Given the description of an element on the screen output the (x, y) to click on. 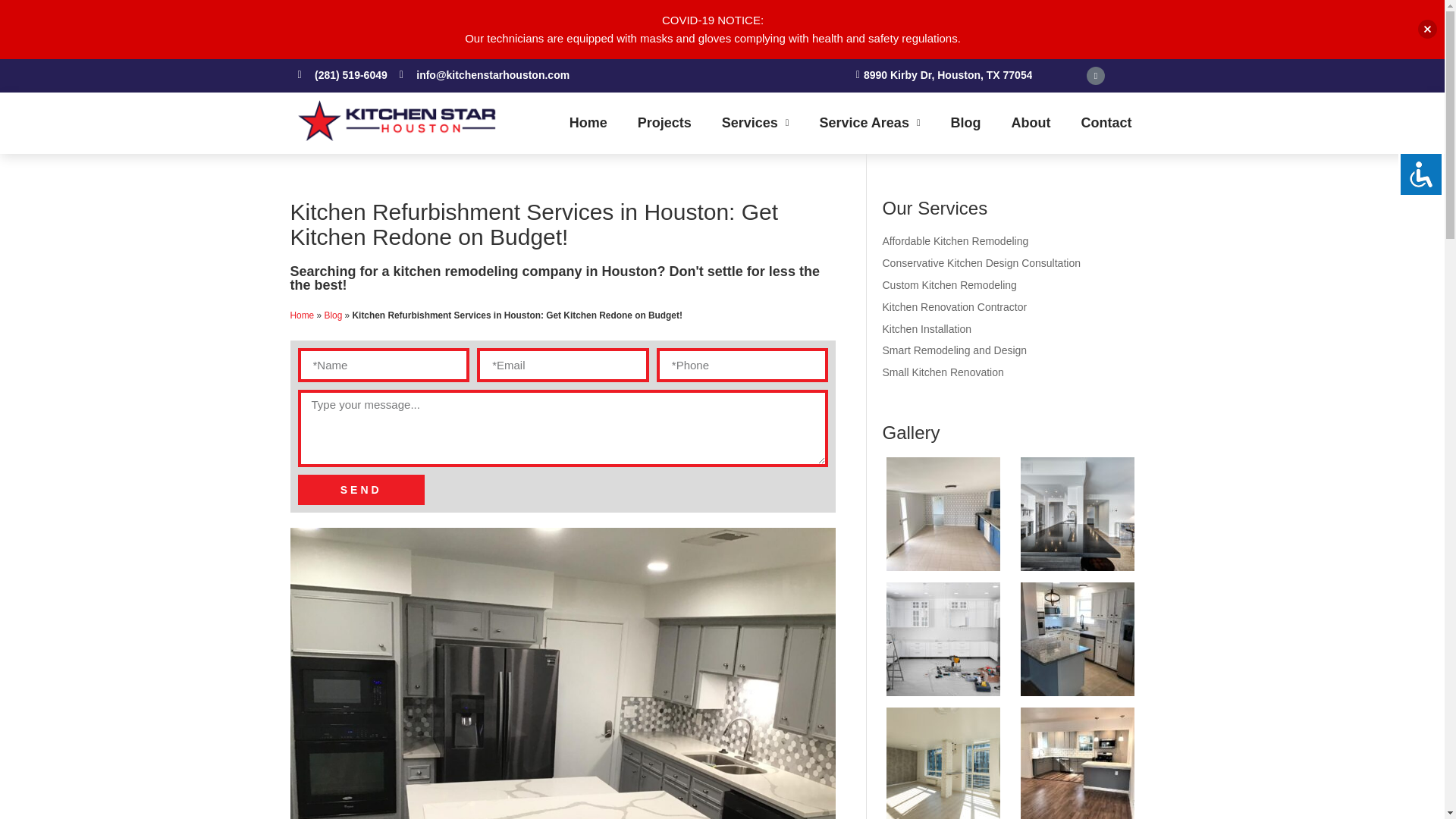
About (1030, 122)
Home (588, 122)
Service Areas (868, 122)
Services (755, 122)
Blog (965, 122)
Contact (1106, 122)
Projects (664, 122)
